Given the description of an element on the screen output the (x, y) to click on. 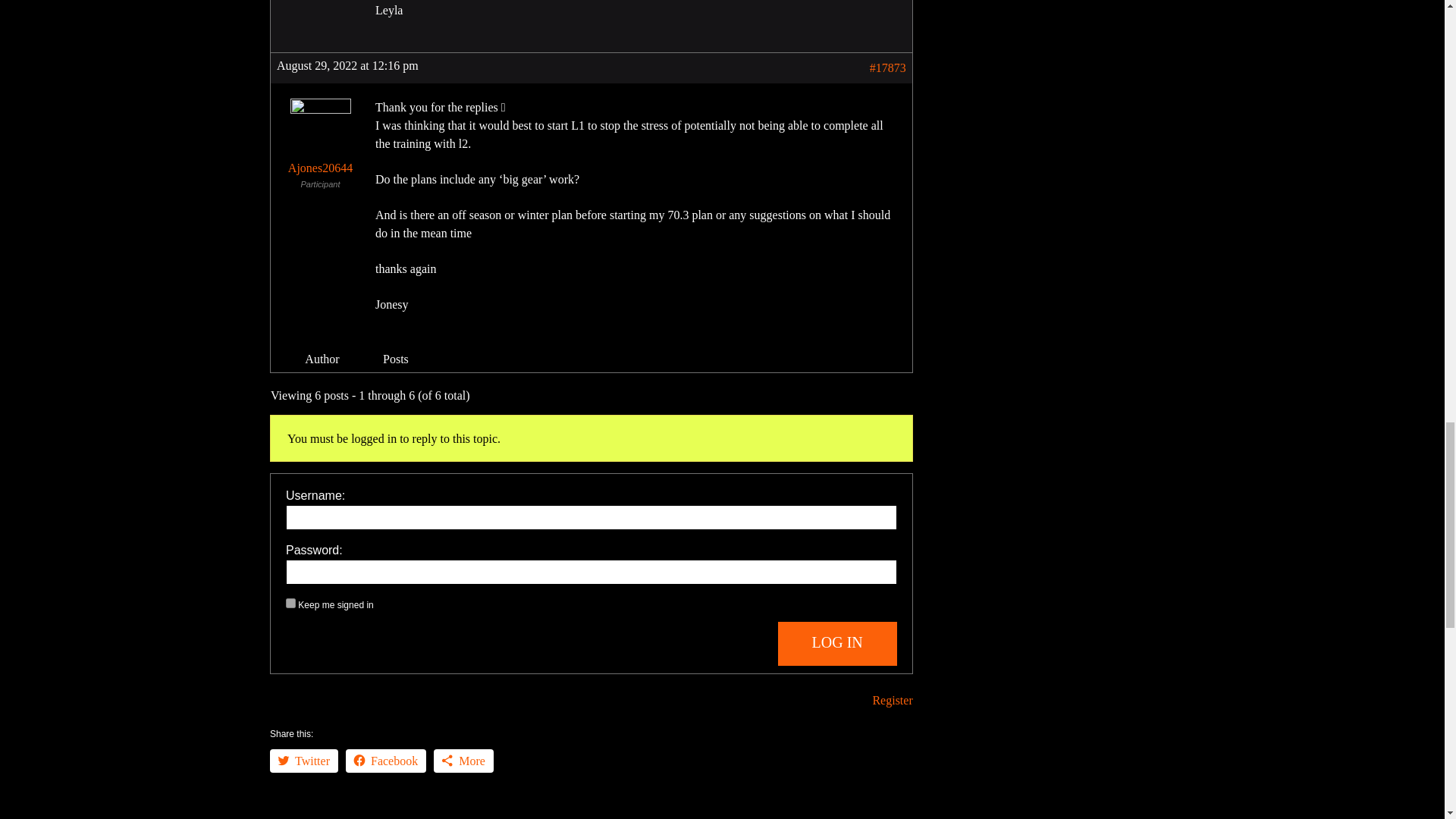
Click to share on Twitter (303, 761)
Twitter (303, 761)
Click to share on Facebook (386, 761)
View Ajones20644's profile (320, 140)
forever (290, 603)
Register (892, 699)
Facebook (386, 761)
More (463, 761)
Ajones20644 (320, 140)
LOG IN (836, 643)
